Given the description of an element on the screen output the (x, y) to click on. 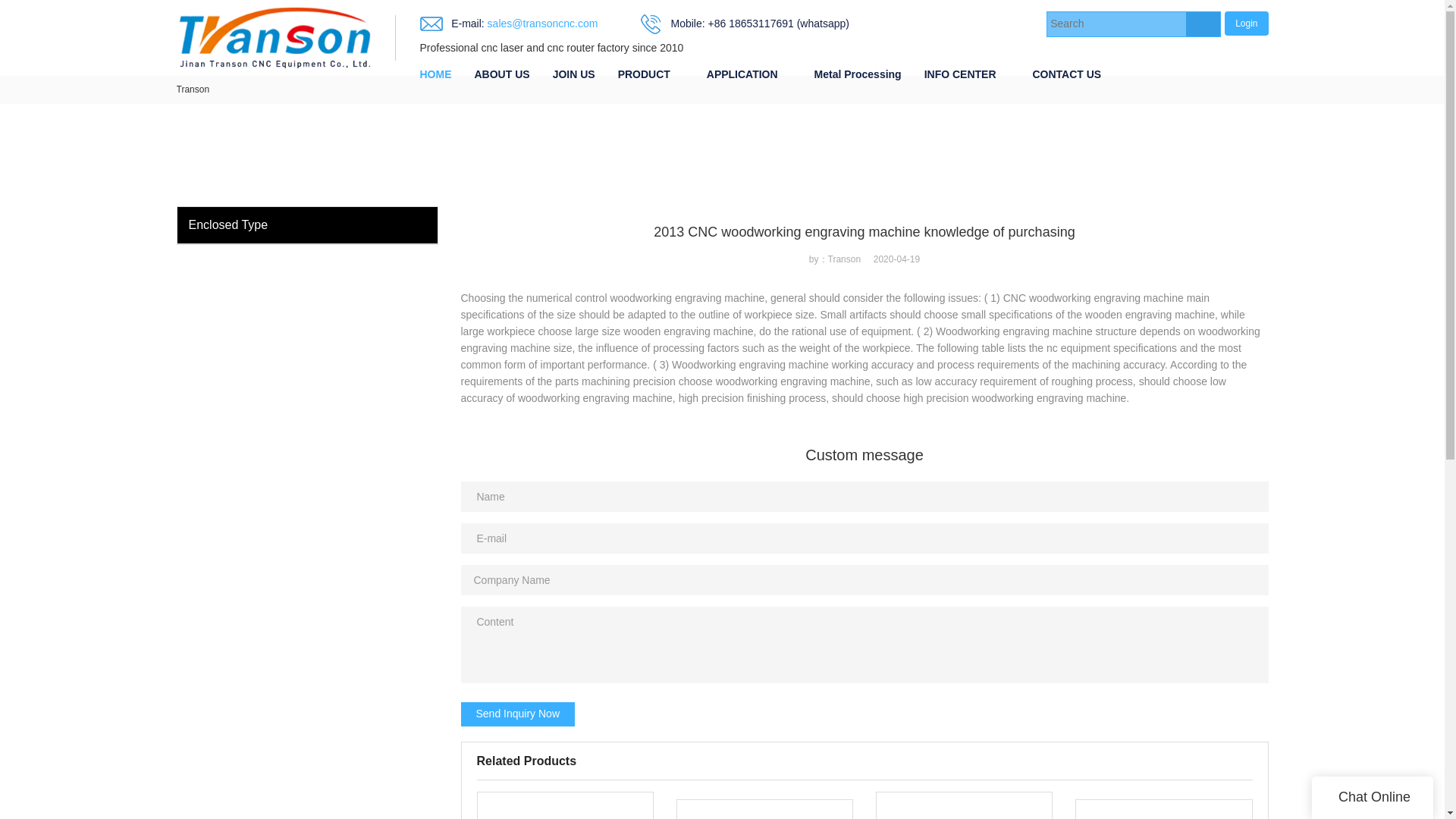
ABOUT US (501, 74)
HOME (435, 74)
Login (1245, 23)
PRODUCT (644, 74)
APPLICATION (742, 74)
JOIN US (574, 74)
